Given the description of an element on the screen output the (x, y) to click on. 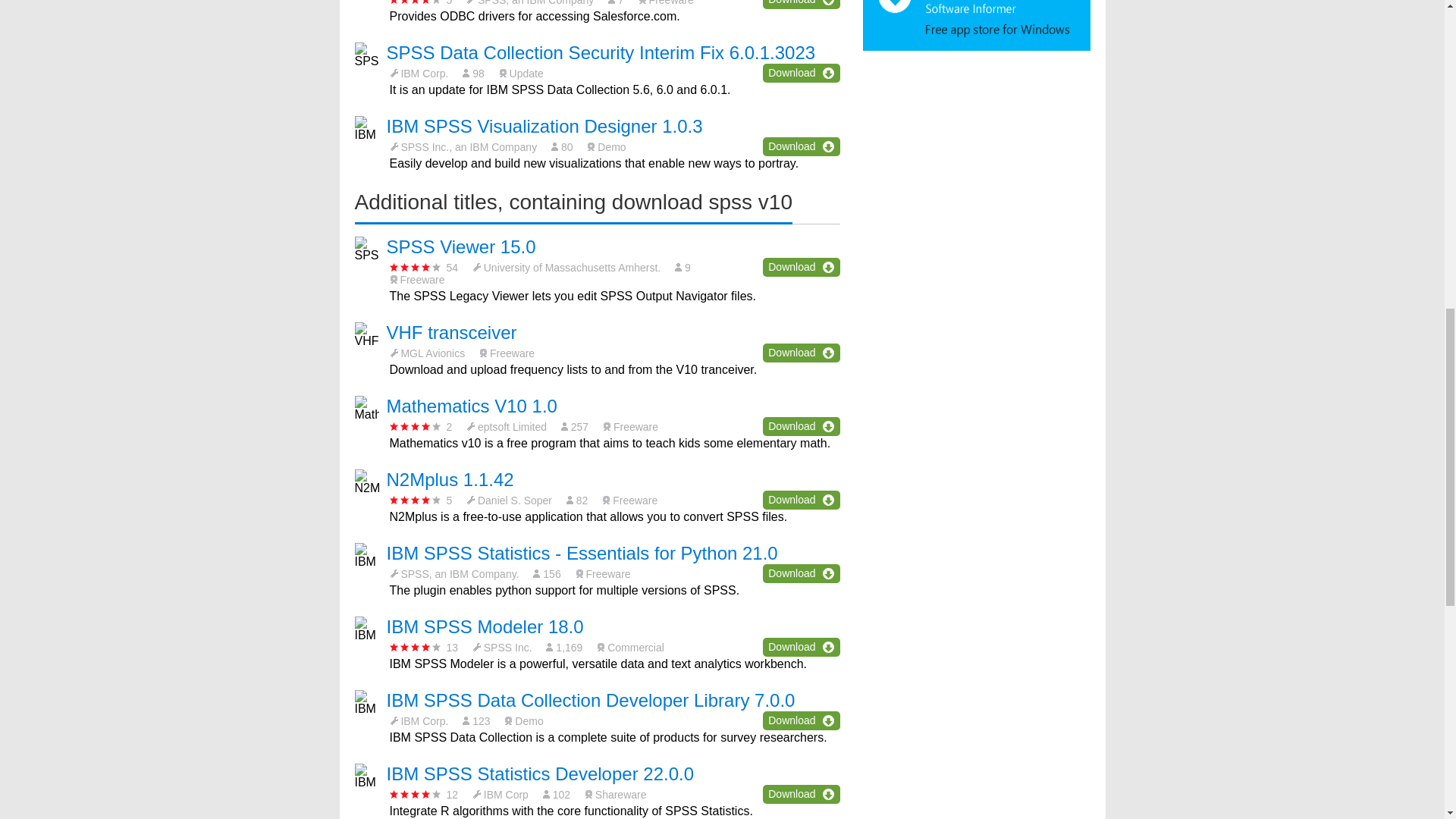
Download (801, 499)
Mathematics V10 1.0 (472, 405)
4.2 (415, 500)
3.7 (415, 266)
N2Mplus 1.1.42 (450, 479)
IBM SPSS Visualization Designer 1.0.3 (545, 126)
Download (801, 352)
Mathematics V10 1.0 (472, 405)
3.8 (415, 2)
IBM SPSS Data Collection Developer Library 7.0.0 (590, 700)
